Given the description of an element on the screen output the (x, y) to click on. 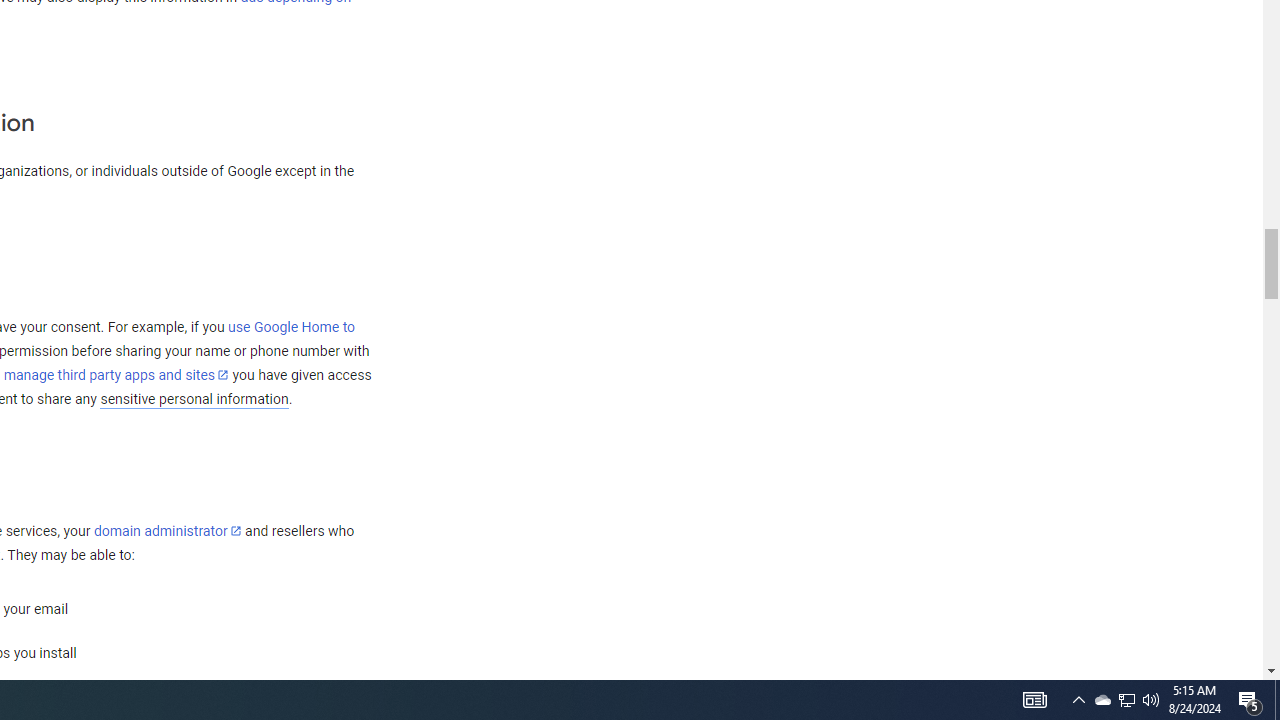
domain administrator (167, 531)
sensitive personal information (194, 399)
